Given the description of an element on the screen output the (x, y) to click on. 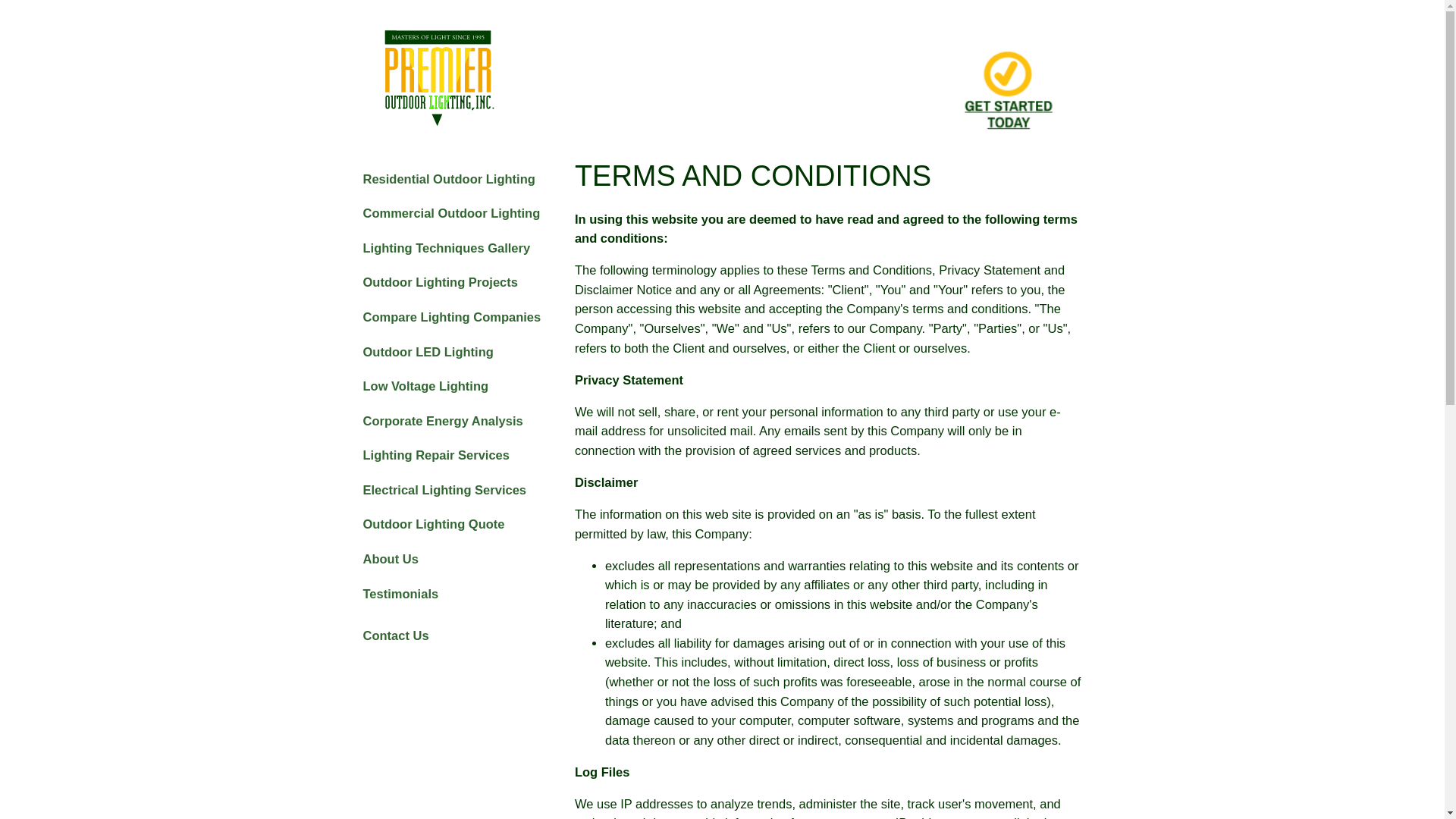
About Us (389, 558)
Outdoor Lighting in Tampa Florida (1012, 73)
Testimonials (400, 593)
Lighting Repair Services (435, 455)
Residential Outdoor Lighting (448, 178)
Electrical Lighting Services (443, 489)
Lighting Techniques Gallery (445, 247)
Outdoor LED Lighting (427, 351)
Commercial Outdoor Lighting (451, 212)
Corporate Energy Analysis (442, 420)
Premier Outdoor Lighting (477, 73)
Outdoor Lighting Quote (432, 523)
Contact Us (395, 635)
Compare Lighting Companies (451, 316)
Outdoor Lighting Projects (439, 281)
